Given the description of an element on the screen output the (x, y) to click on. 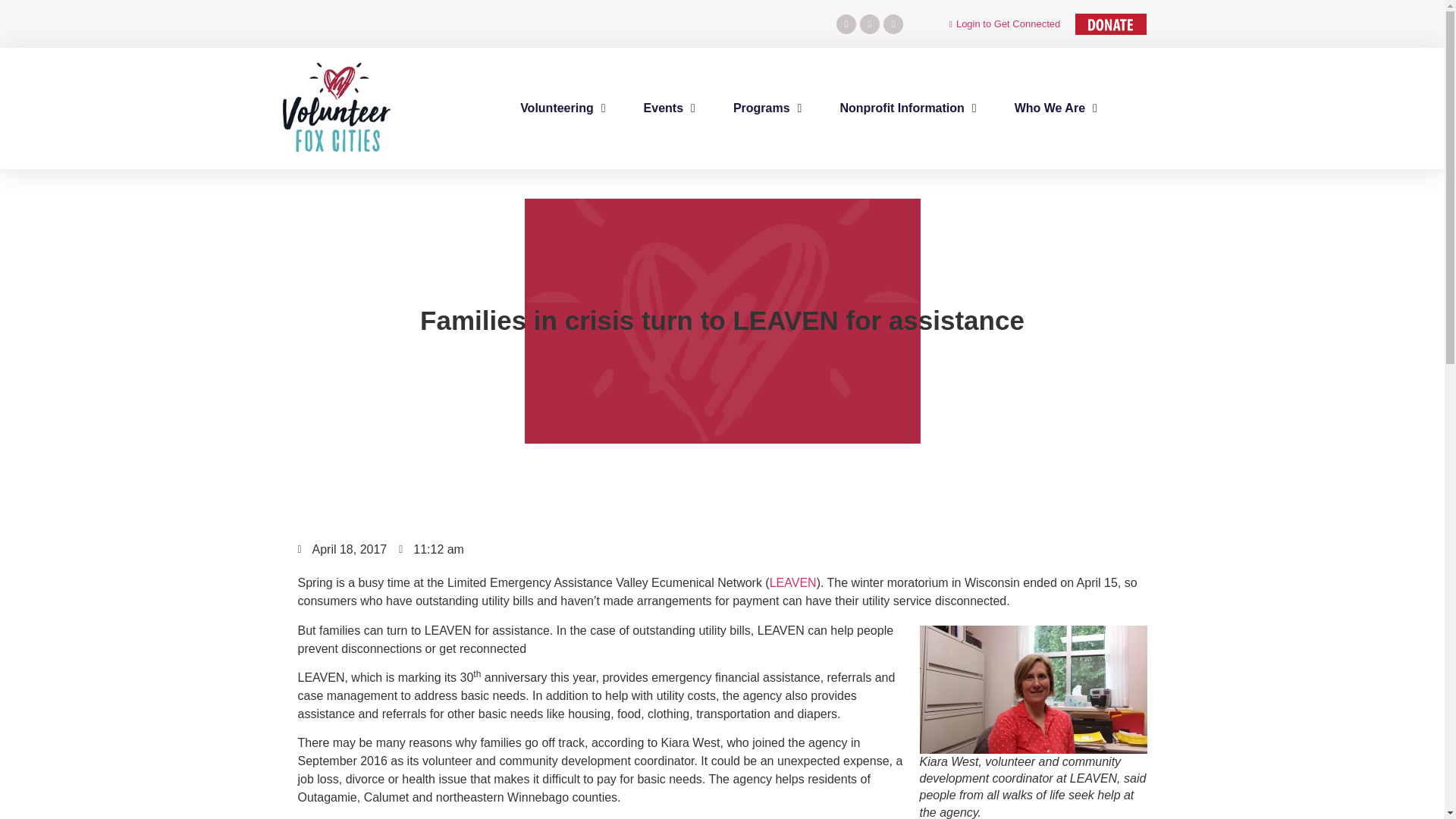
Who We Are (1055, 108)
Programs (767, 108)
Nonprofit Information (907, 108)
Volunteering (562, 108)
Login to Get Connected (999, 23)
Events (669, 108)
PayPal - The safer, easier way to pay online! (1111, 24)
